Given the description of an element on the screen output the (x, y) to click on. 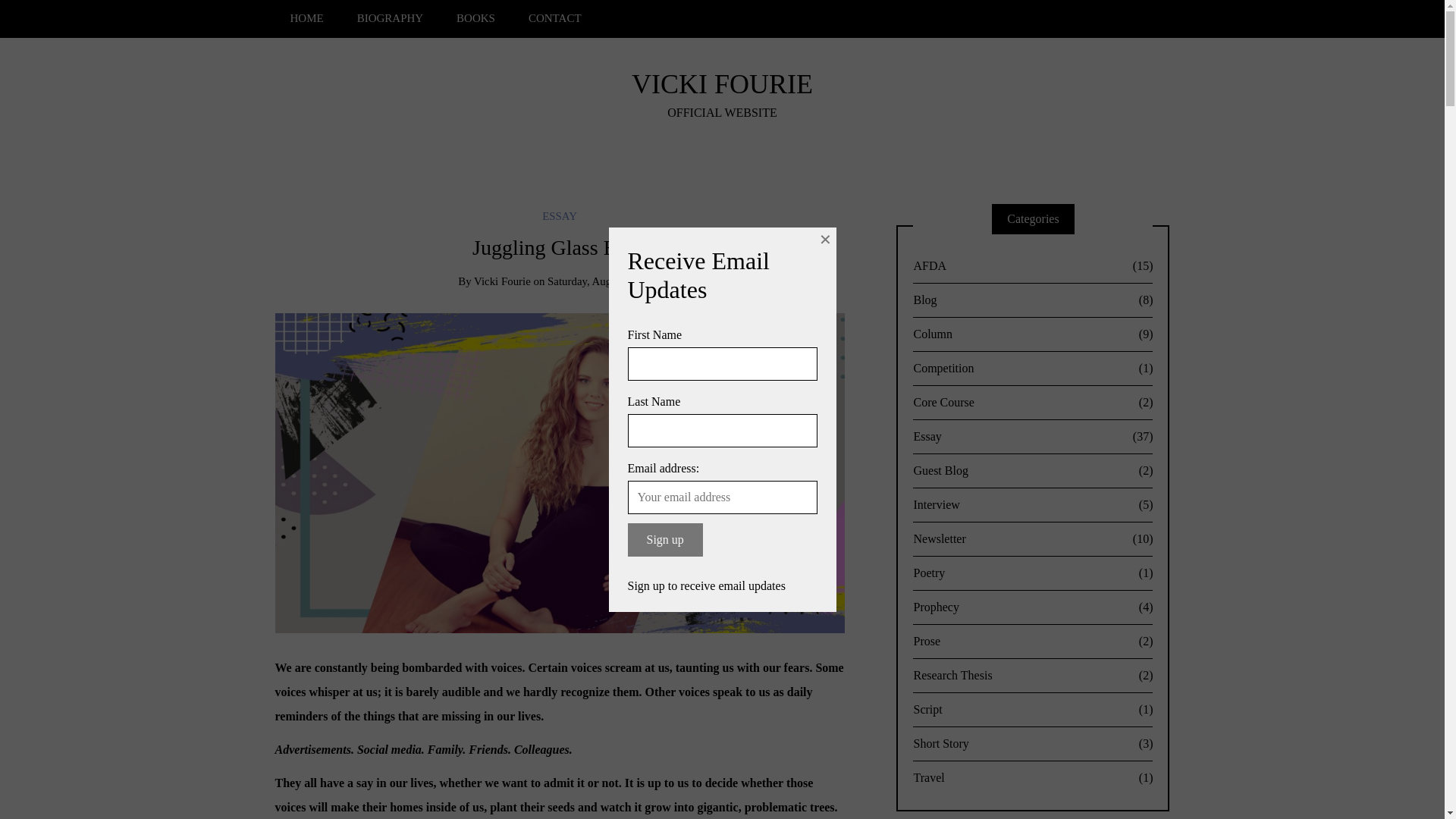
Permalink to: "Juggling Glass Balls" (559, 472)
Sign up (665, 539)
VICKI FOURIE (721, 83)
Posts by Vicki Fourie (502, 281)
HOME (306, 18)
BIOGRAPHY (390, 18)
ESSAY (558, 215)
BOOKS (476, 18)
Vicki Fourie (502, 281)
CONTACT (554, 18)
Saturday, August 3, 2019 (604, 281)
